Given the description of an element on the screen output the (x, y) to click on. 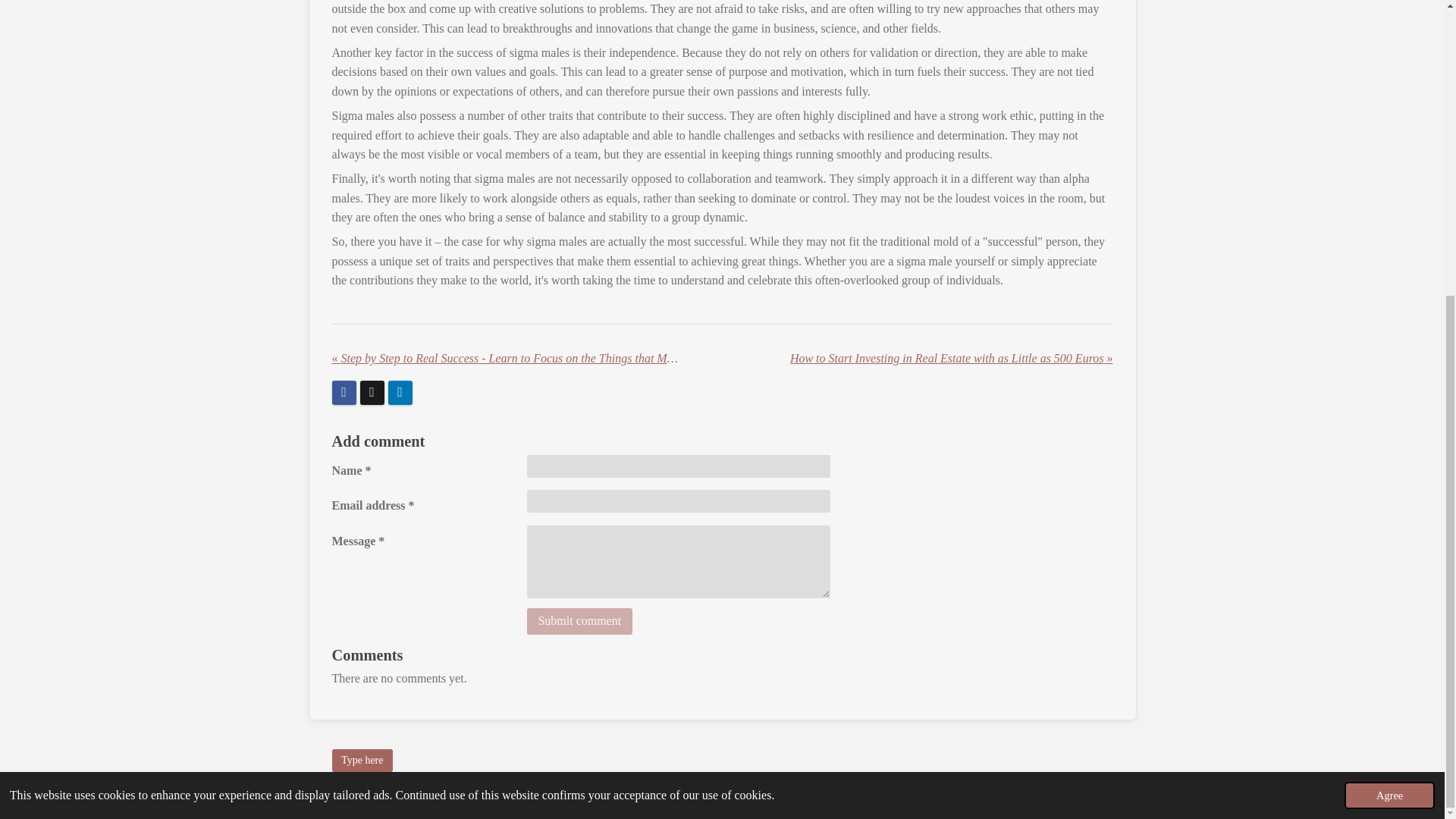
Webador (1096, 790)
Submit comment (579, 621)
Type here (362, 761)
